Given the description of an element on the screen output the (x, y) to click on. 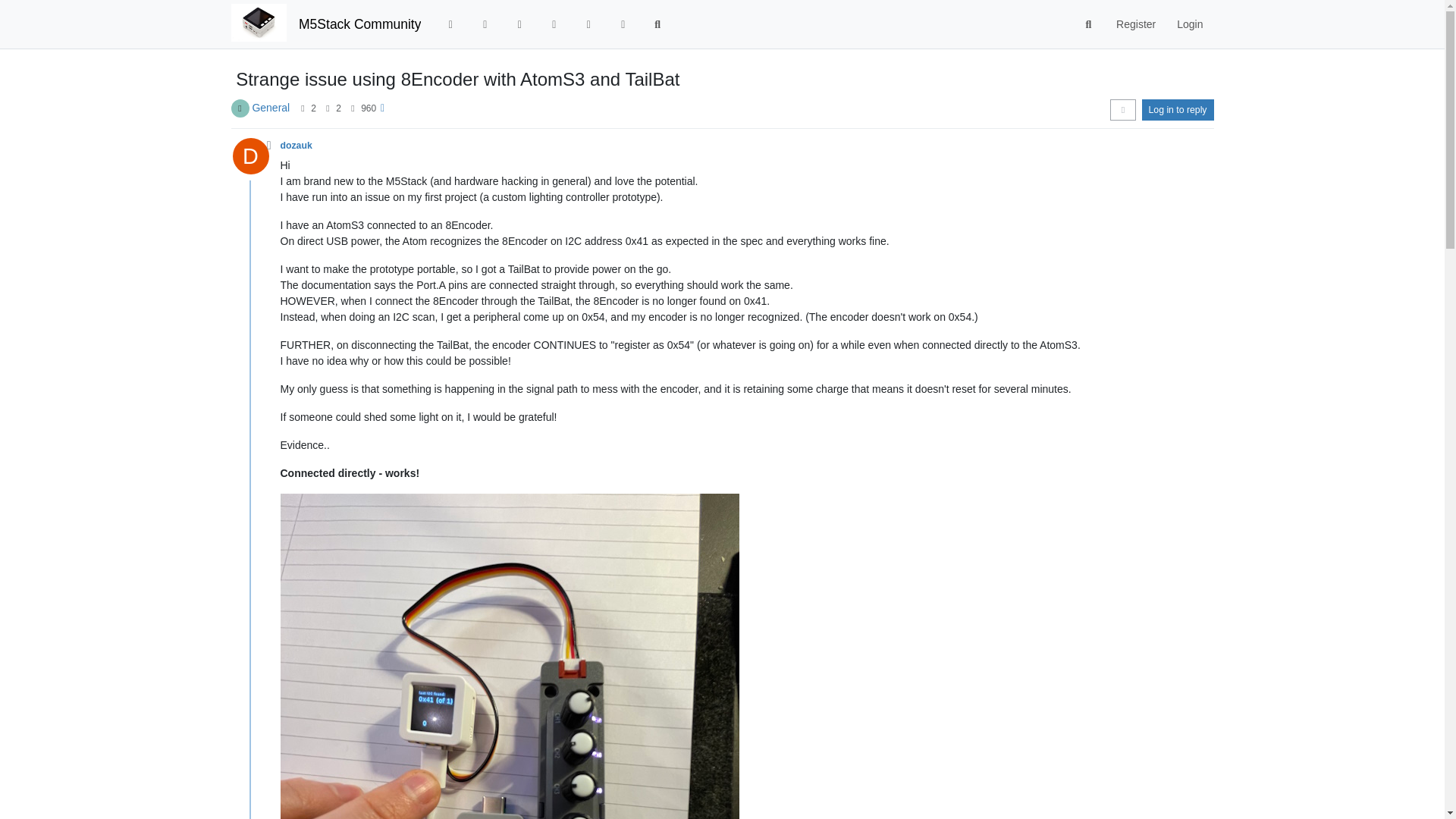
D (255, 159)
M5Stack Community (359, 24)
Log in to reply (1177, 109)
Register (1135, 24)
Search (657, 24)
Users (587, 24)
Search (1088, 24)
Login (1189, 24)
General (270, 107)
Groups (622, 24)
